Given the description of an element on the screen output the (x, y) to click on. 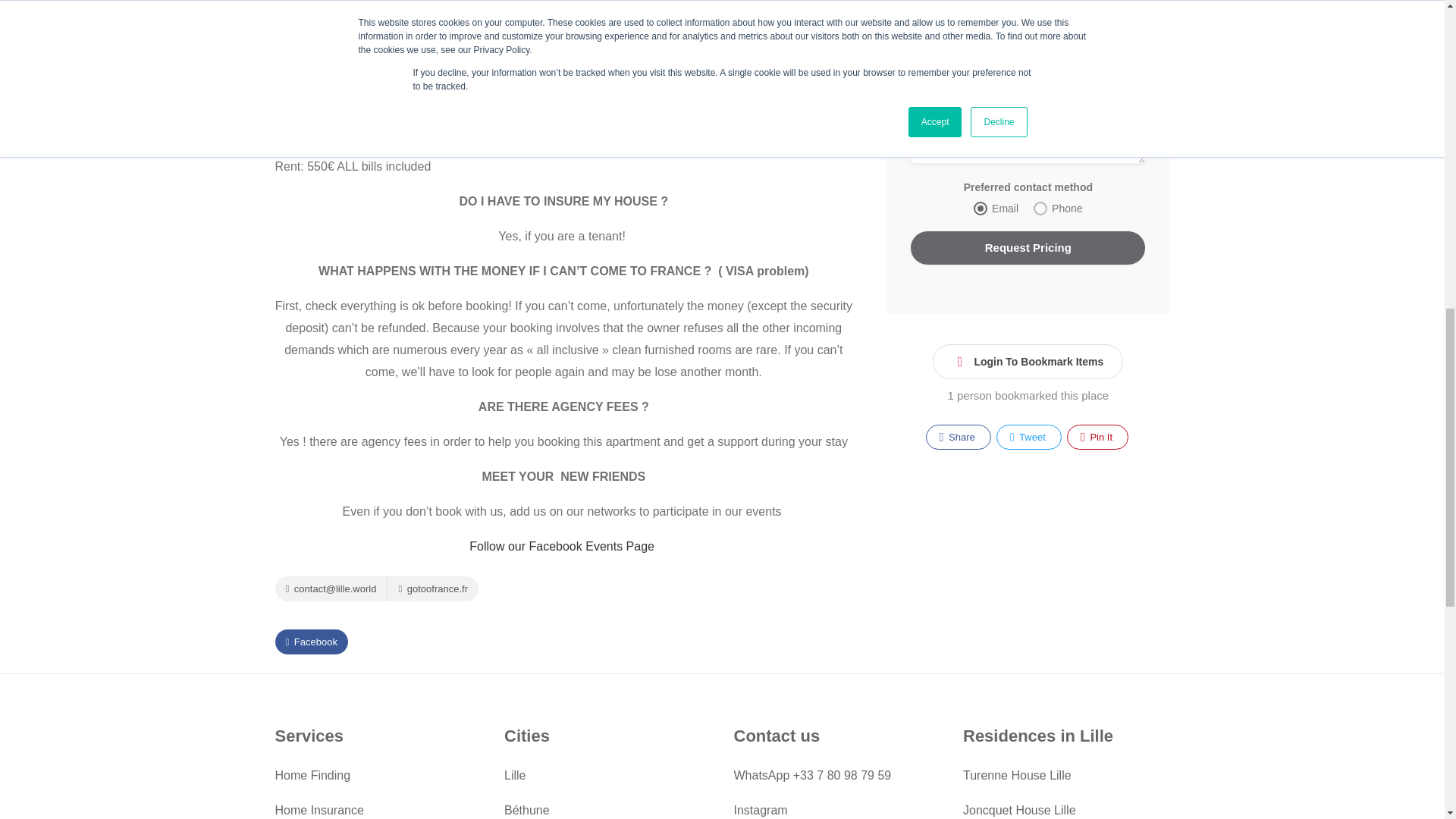
Request Pricing (1027, 247)
Twitter (1028, 437)
